Given the description of an element on the screen output the (x, y) to click on. 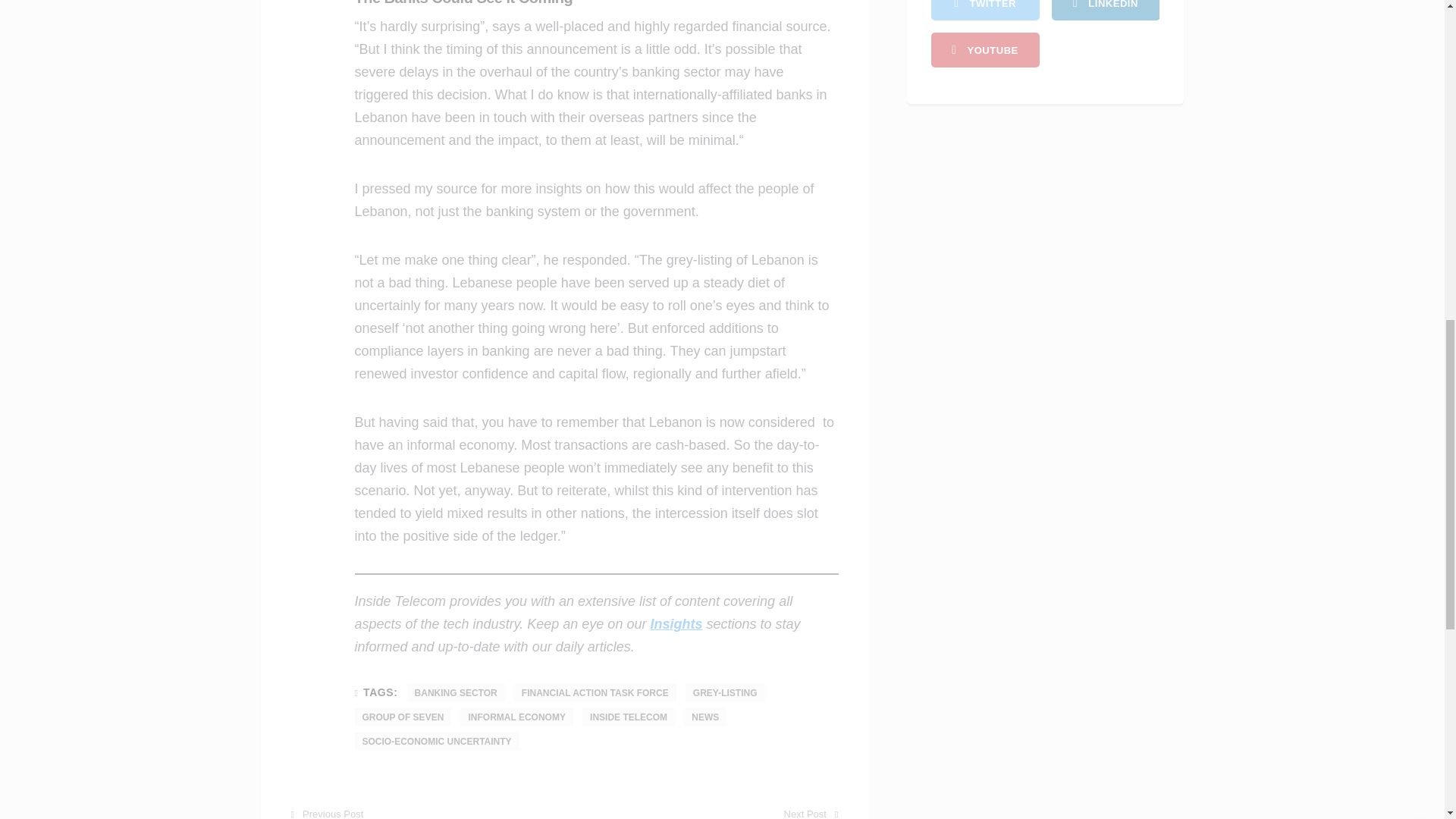
rss (1104, 10)
twitter (985, 10)
youtube (985, 49)
